Given the description of an element on the screen output the (x, y) to click on. 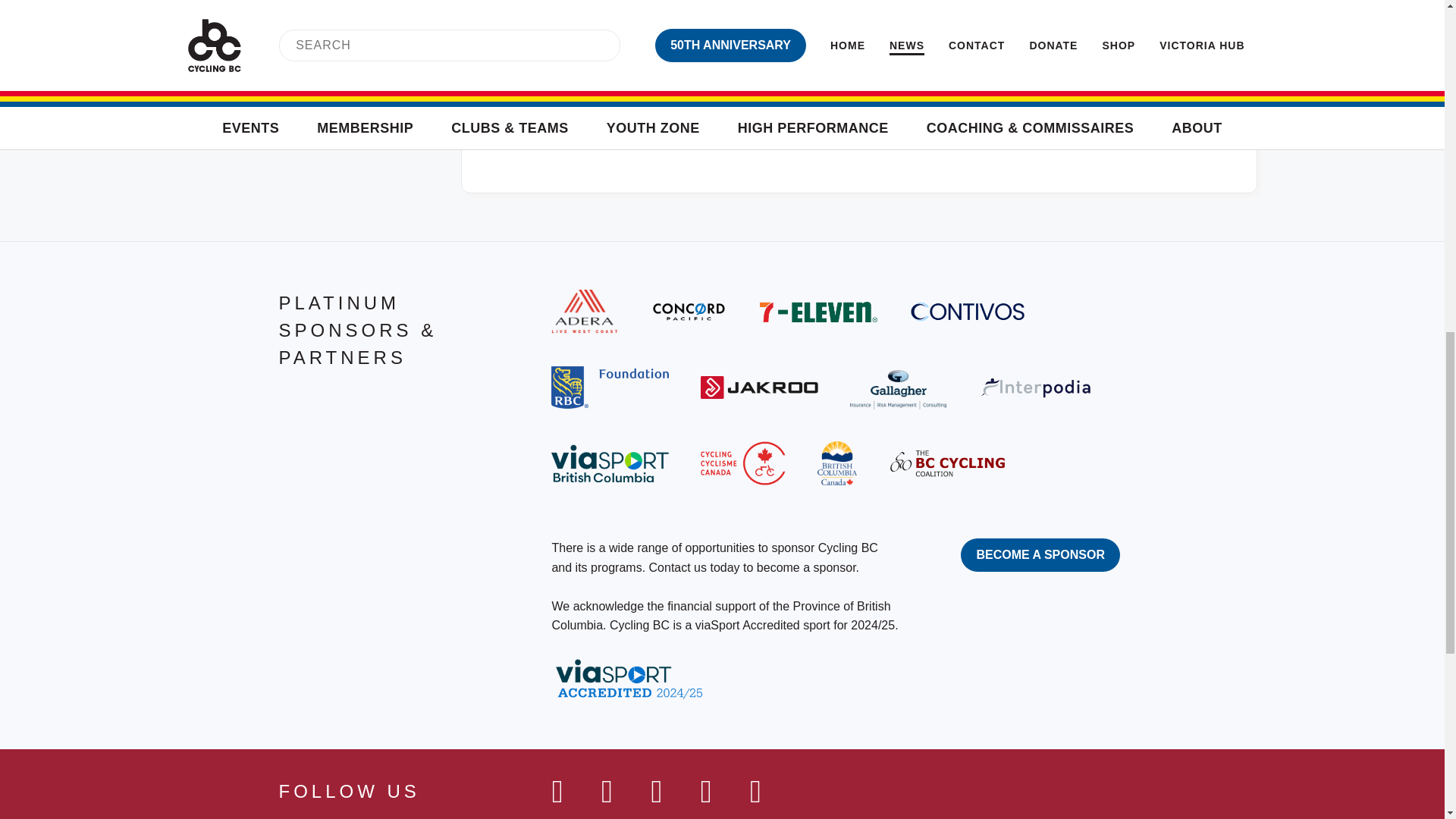
Gallagher-Logo (898, 387)
jakroo-logo (759, 386)
logo-viasport-min (609, 463)
cycling-canada-logo-long (742, 463)
adera (584, 311)
Concord Pacific Logo Clear BG (688, 311)
Interpodia logo (1037, 387)
bc-logo (836, 463)
BCCC-short-logo-2020-web (947, 462)
